Given the description of an element on the screen output the (x, y) to click on. 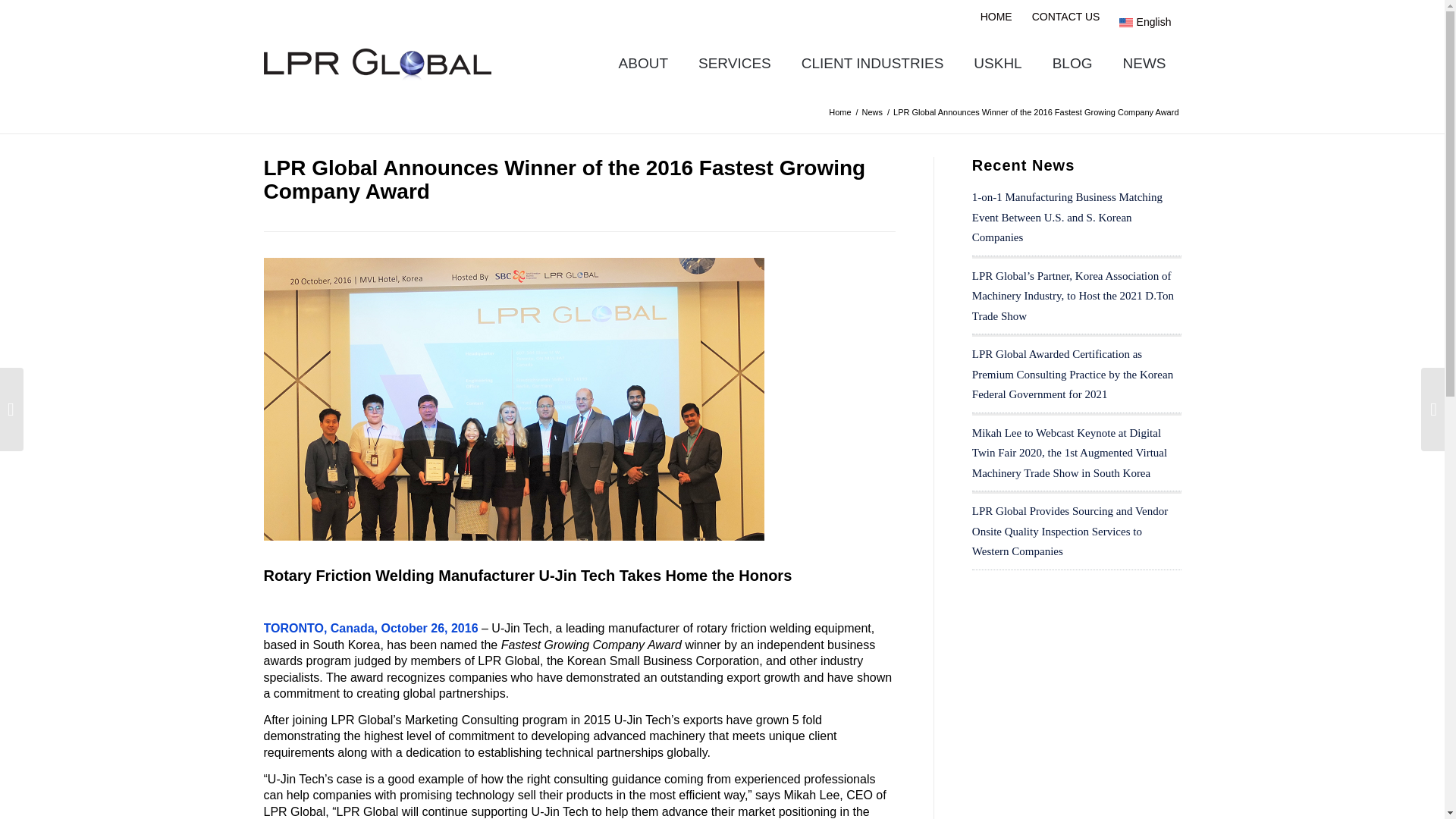
USKHL (997, 63)
BLOG (1072, 63)
ABOUT (643, 63)
CLIENT INDUSTRIES (872, 63)
News (872, 112)
NEWS (1143, 63)
HOME (995, 15)
LPR GLOBAL (840, 112)
